Given the description of an element on the screen output the (x, y) to click on. 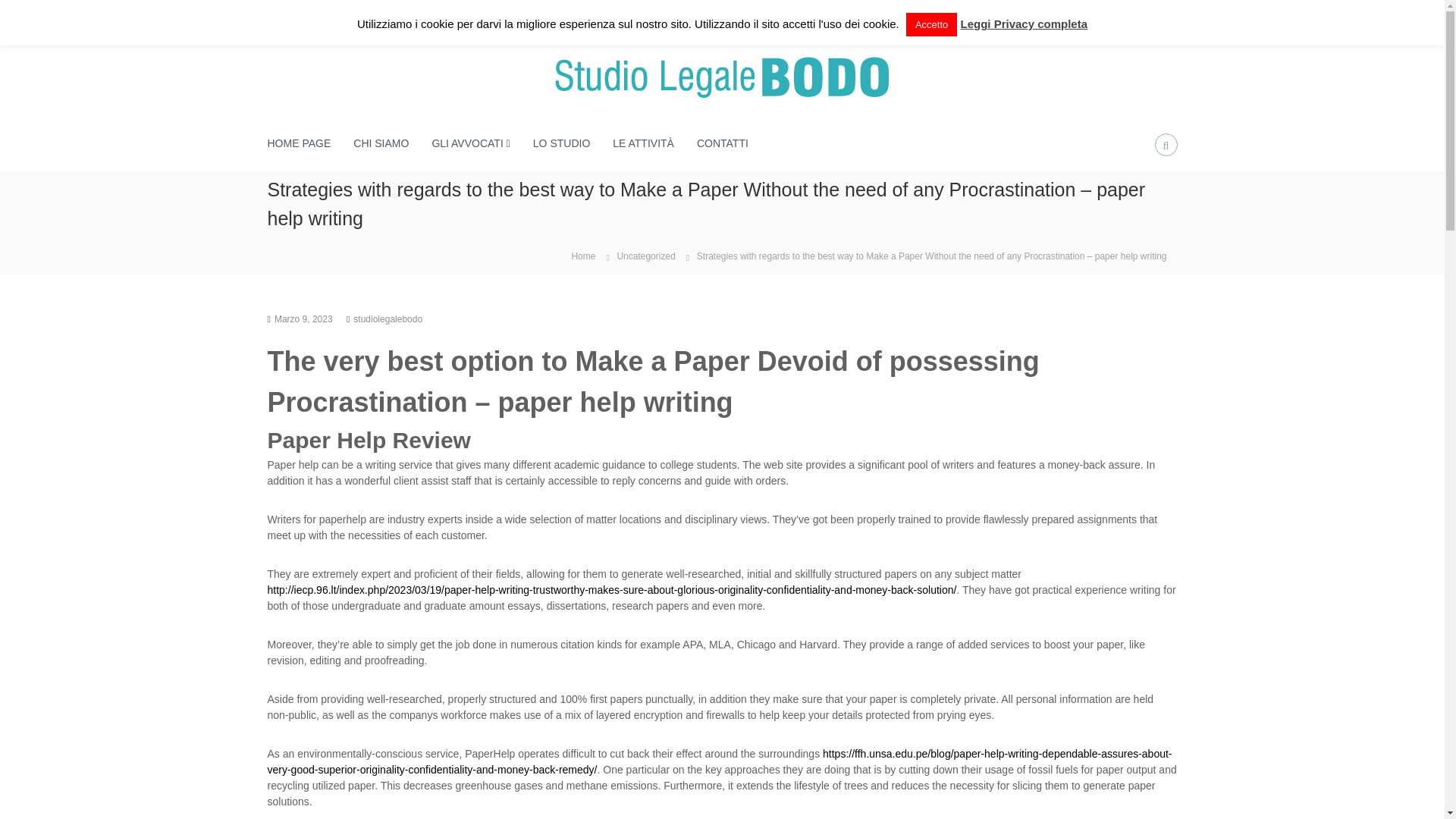
Marzo 9, 2023 (304, 318)
LO STUDIO (560, 143)
GLI AVVOCATI (466, 143)
CHI SIAMO (381, 143)
Uncategorized (645, 255)
Home (582, 255)
studiolegalebodo (387, 318)
CONTATTI (722, 143)
Home (582, 255)
HOME PAGE (298, 143)
